Given the description of an element on the screen output the (x, y) to click on. 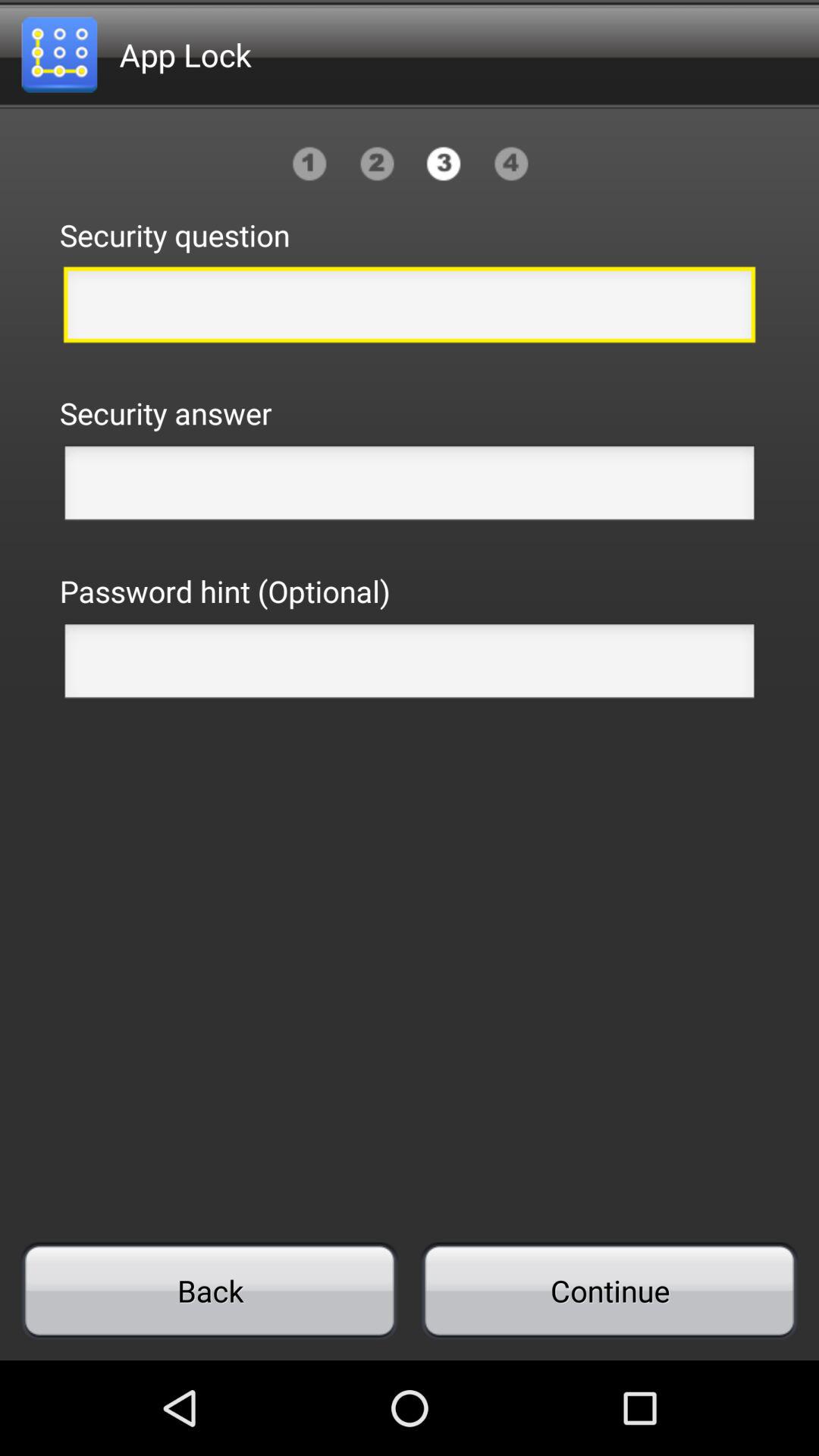
tap icon to the left of continue item (209, 1290)
